Given the description of an element on the screen output the (x, y) to click on. 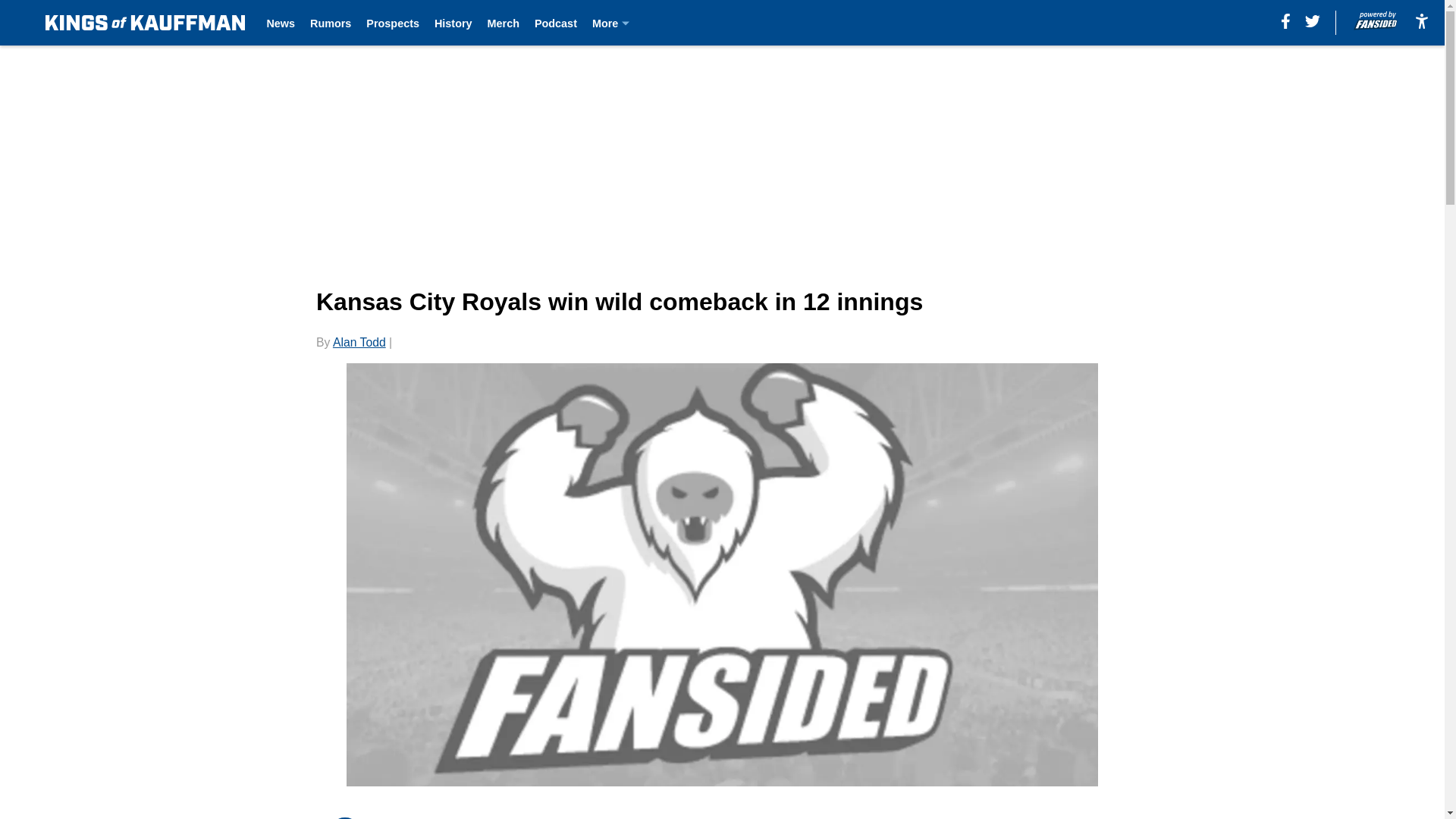
Podcast (555, 23)
Rumors (330, 23)
Alan Todd (359, 341)
History (452, 23)
News (280, 23)
Merch (503, 23)
Prospects (392, 23)
